Given the description of an element on the screen output the (x, y) to click on. 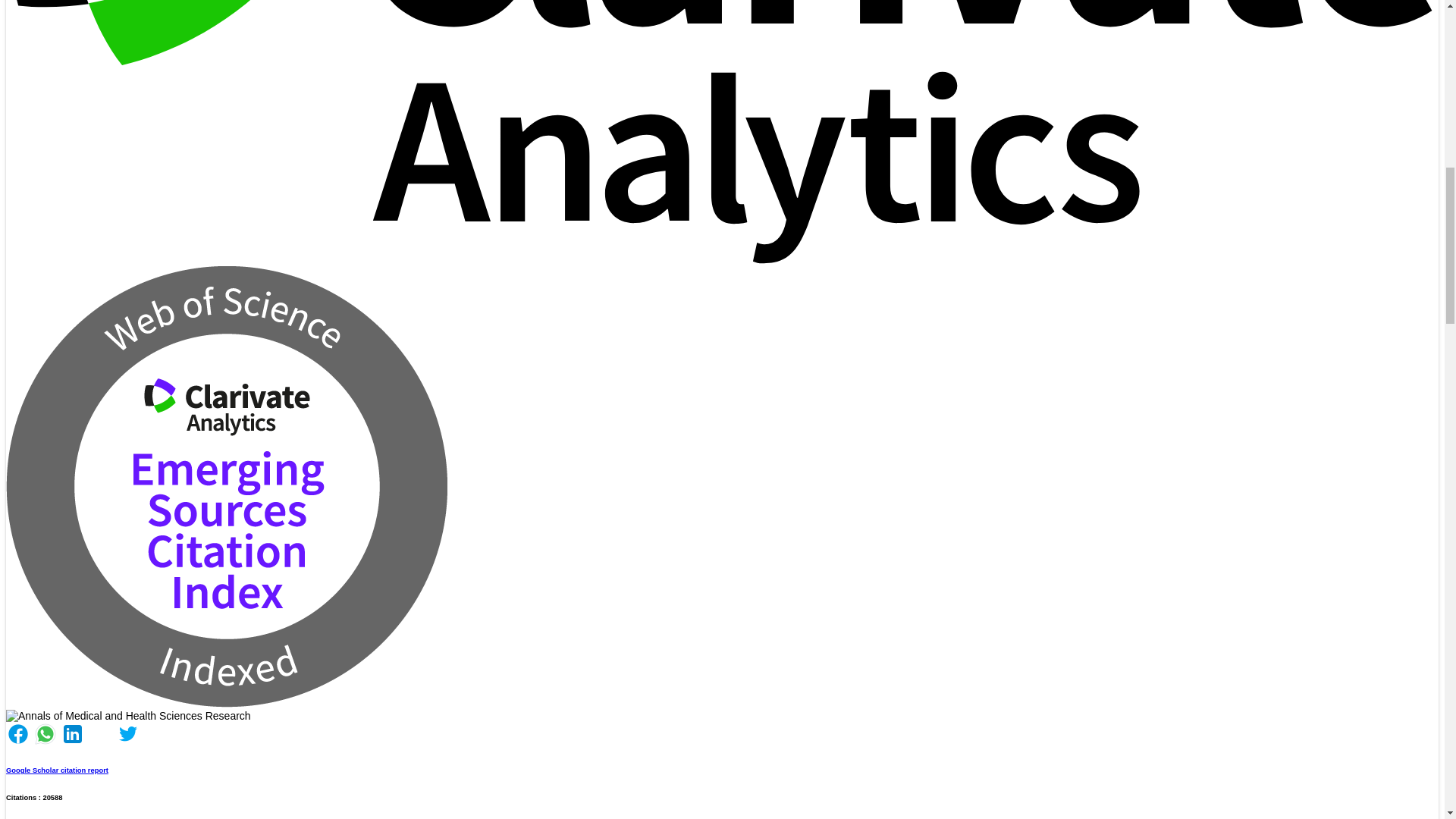
Google Scholar citation report (56, 769)
QR (127, 715)
Share This Article (72, 742)
Share This Article (17, 742)
Share This Article (45, 742)
